Given the description of an element on the screen output the (x, y) to click on. 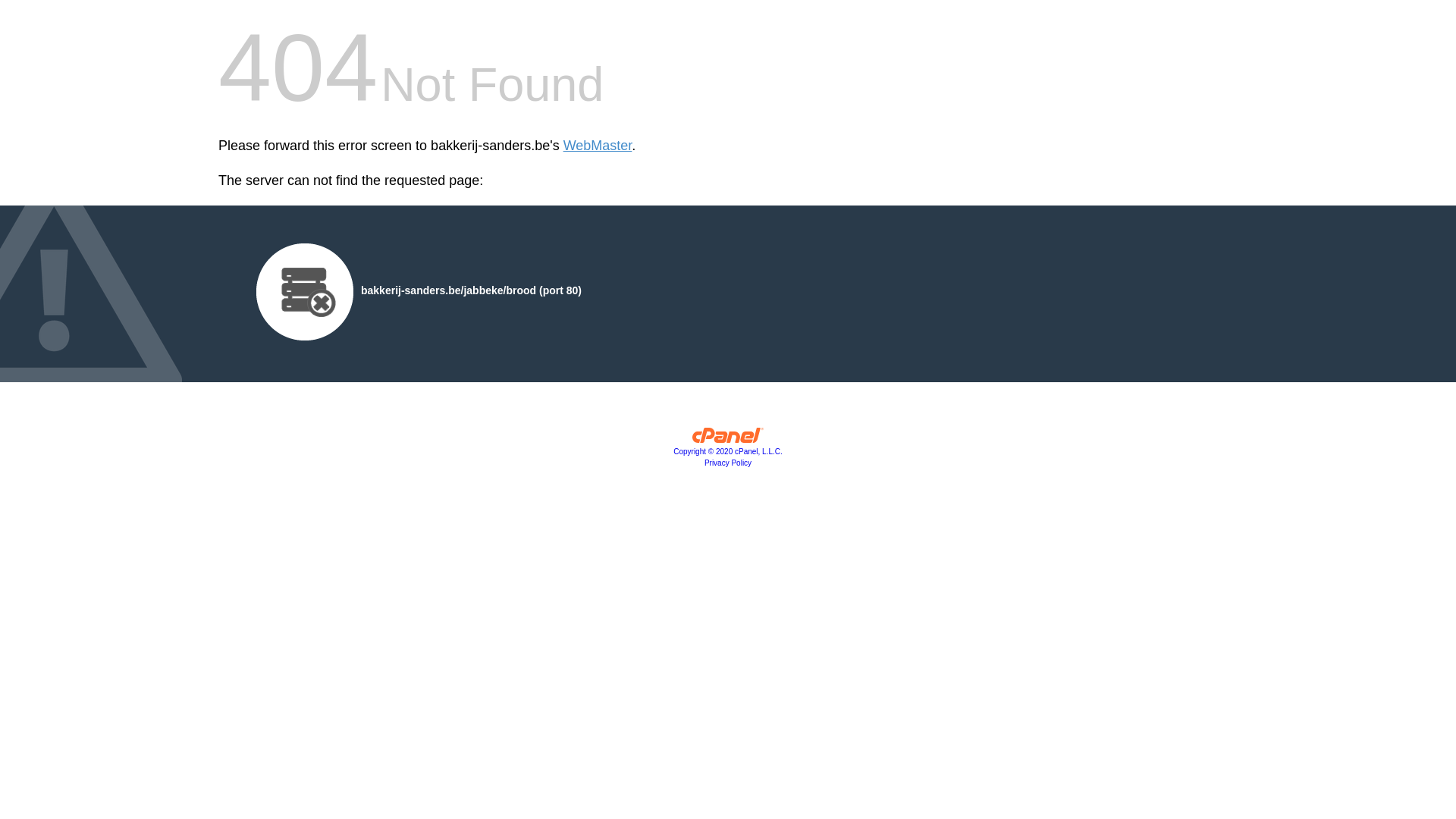
Privacy Policy Element type: text (727, 462)
WebMaster Element type: text (597, 145)
cPanel, Inc. Element type: hover (728, 439)
